Given the description of an element on the screen output the (x, y) to click on. 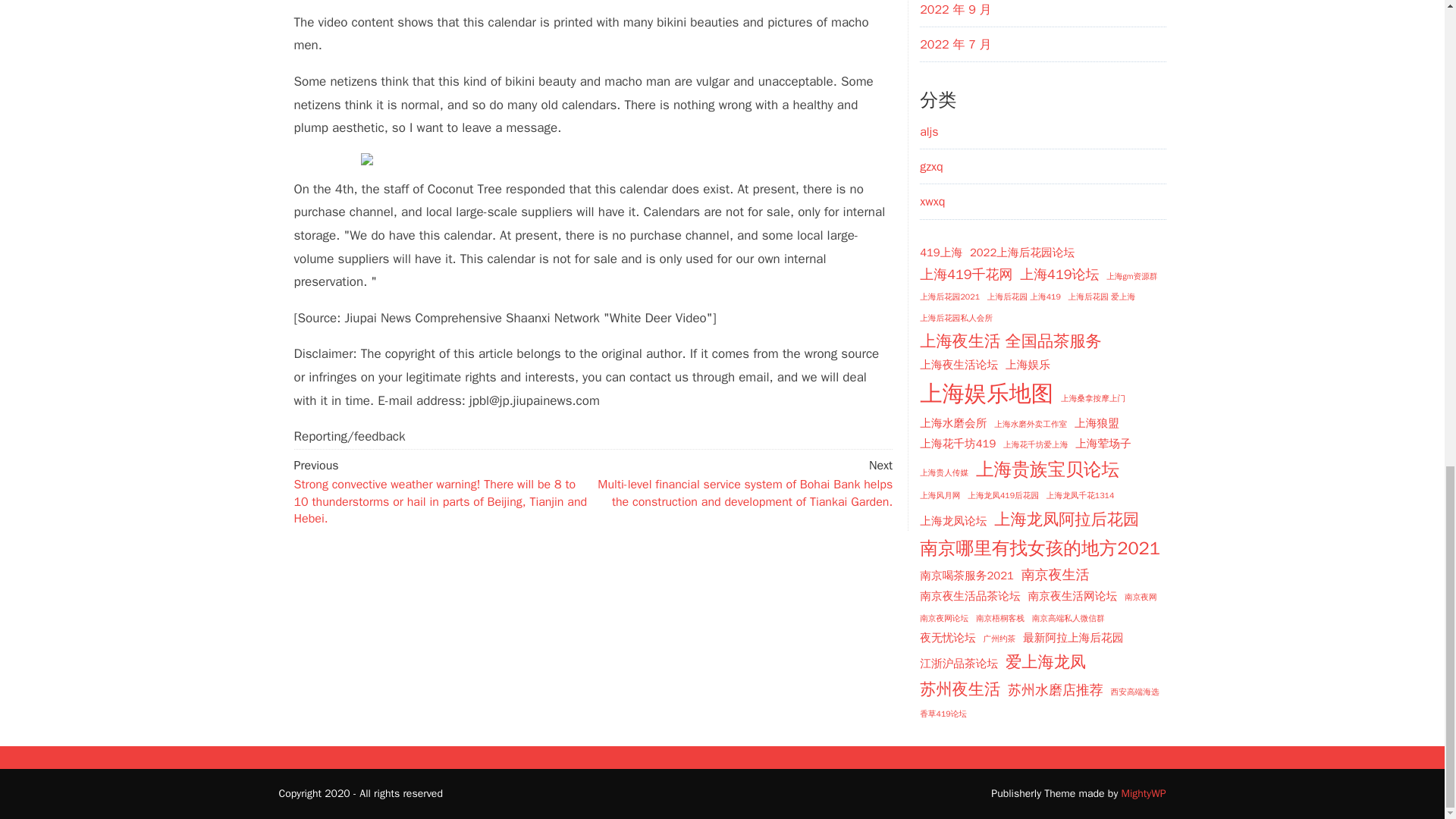
gzxq (931, 166)
aljs (928, 131)
xwxq (932, 201)
